Given the description of an element on the screen output the (x, y) to click on. 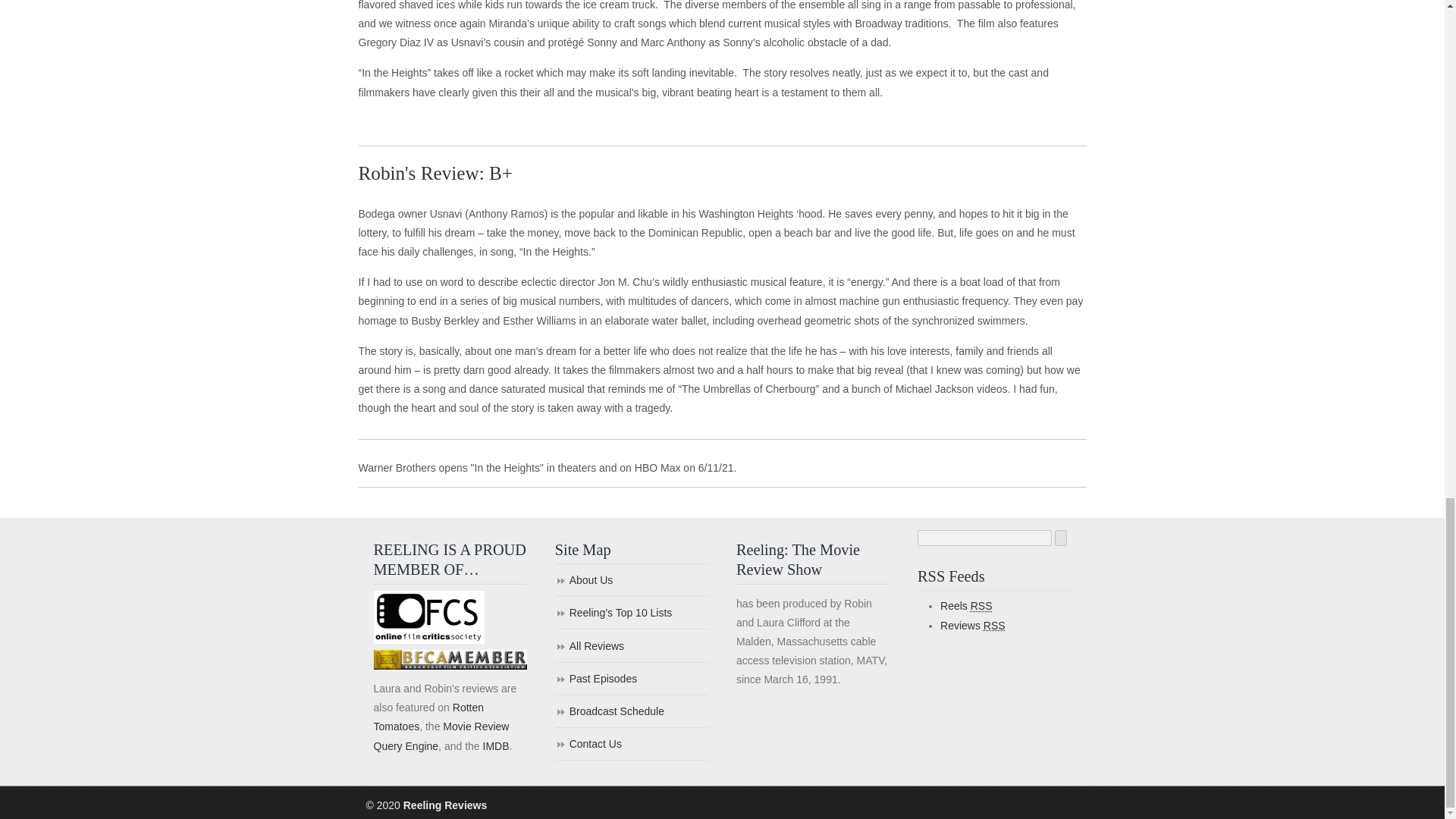
Reels RSS (965, 605)
All Reviews (630, 646)
Really Simple Syndication (995, 625)
About Us (630, 581)
Past Episodes (630, 679)
Reviews RSS (973, 625)
The latest Episodes in RSS (965, 605)
Contact Us (630, 744)
The latest Reviews in RSS (973, 625)
Broadcast Schedule (630, 712)
